Given the description of an element on the screen output the (x, y) to click on. 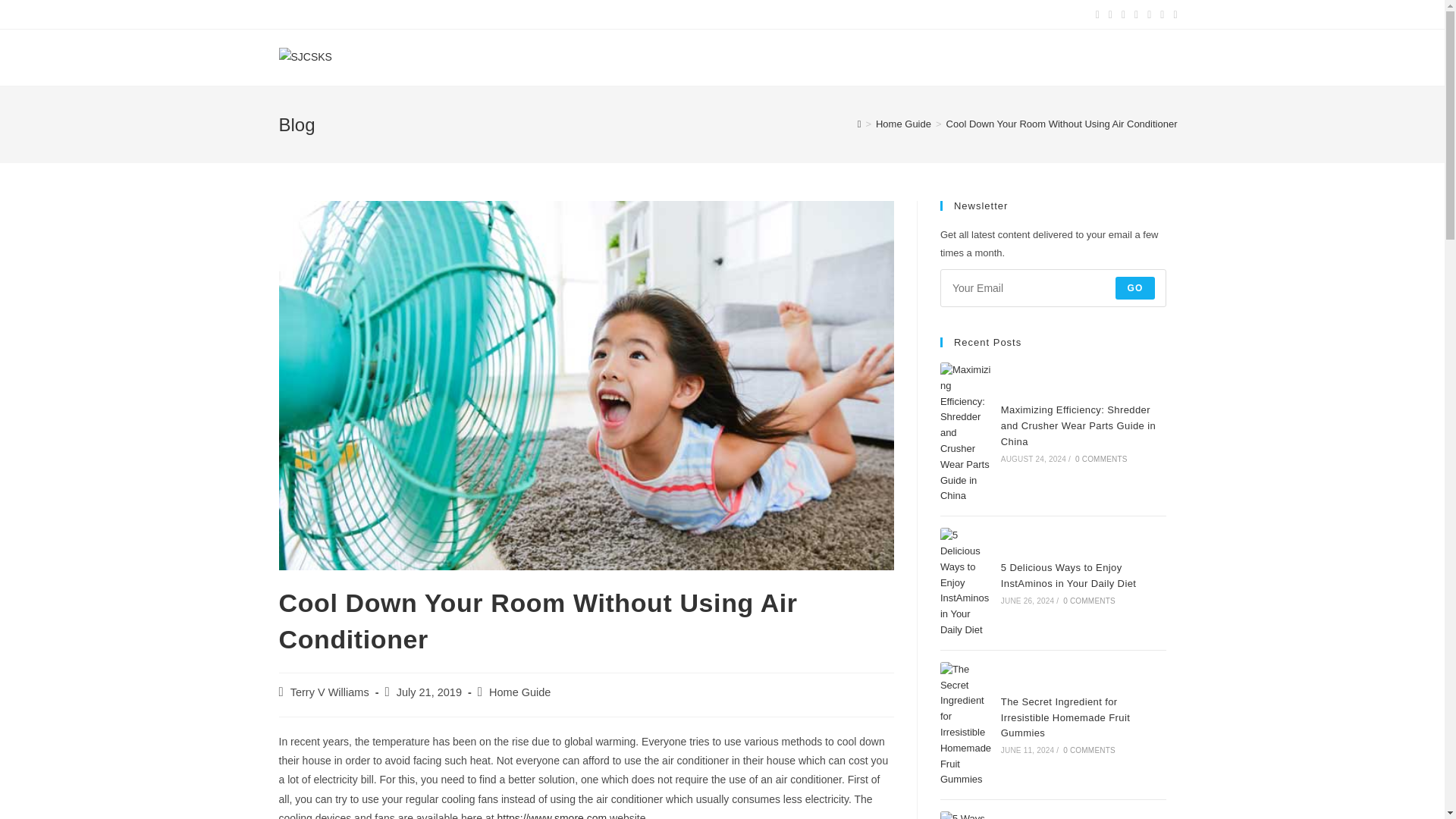
Cool Down Your Room Without Using Air Conditioner (1061, 123)
Posts by Terry V Williams (329, 692)
Terry V Williams (329, 692)
Home Guide (519, 692)
GO (1134, 287)
Home Guide (903, 123)
5 Ways Purisaki Patch Can Improve Your Health (965, 815)
